Given the description of an element on the screen output the (x, y) to click on. 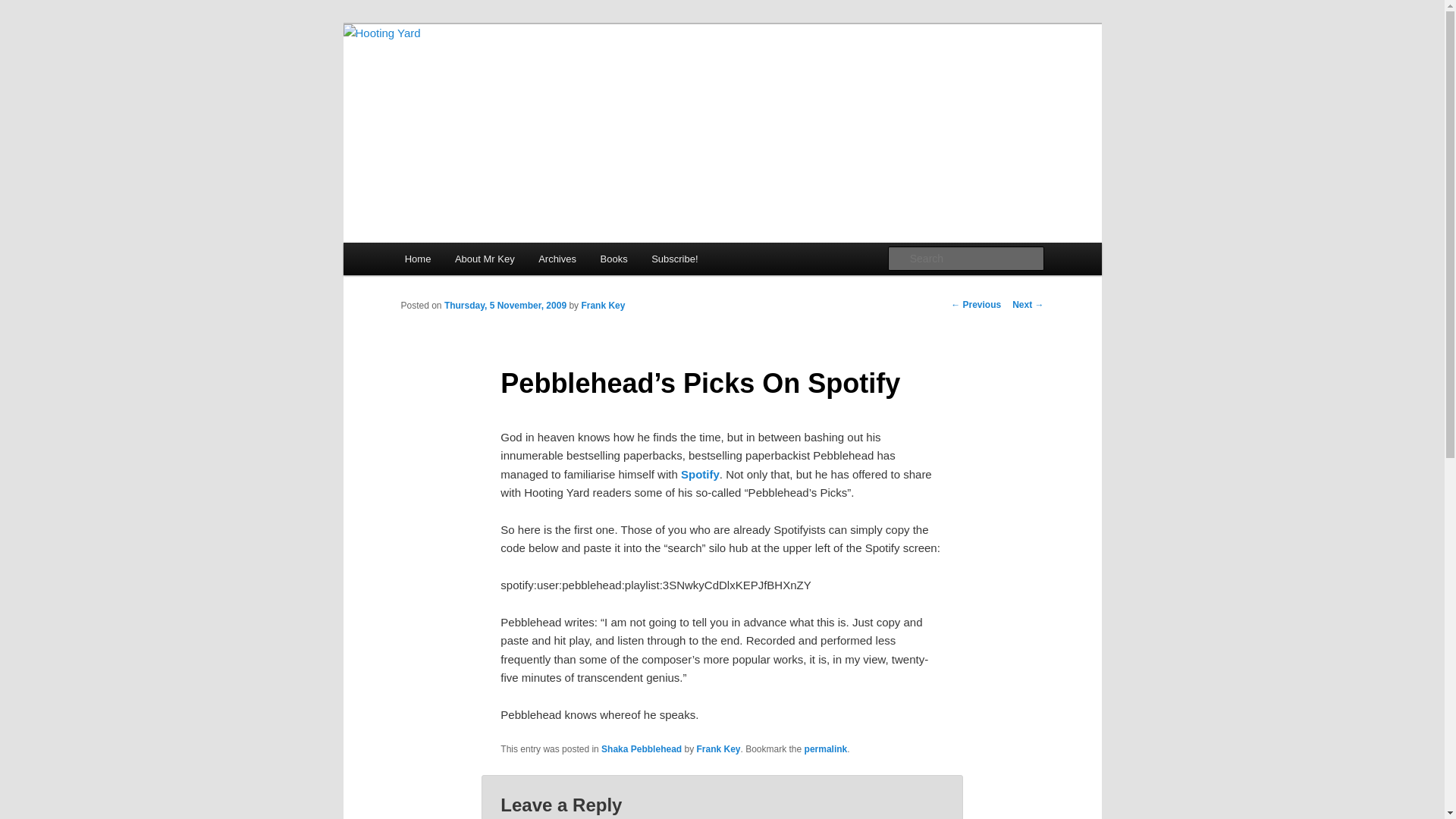
permalink (826, 748)
Books (614, 258)
Frank Key (602, 305)
Subscribe! (674, 258)
Search (24, 8)
Archives (556, 258)
Spotify (700, 473)
View all posts by Frank Key (602, 305)
About Mr Key (483, 258)
Shaka Pebblehead (641, 748)
